Given the description of an element on the screen output the (x, y) to click on. 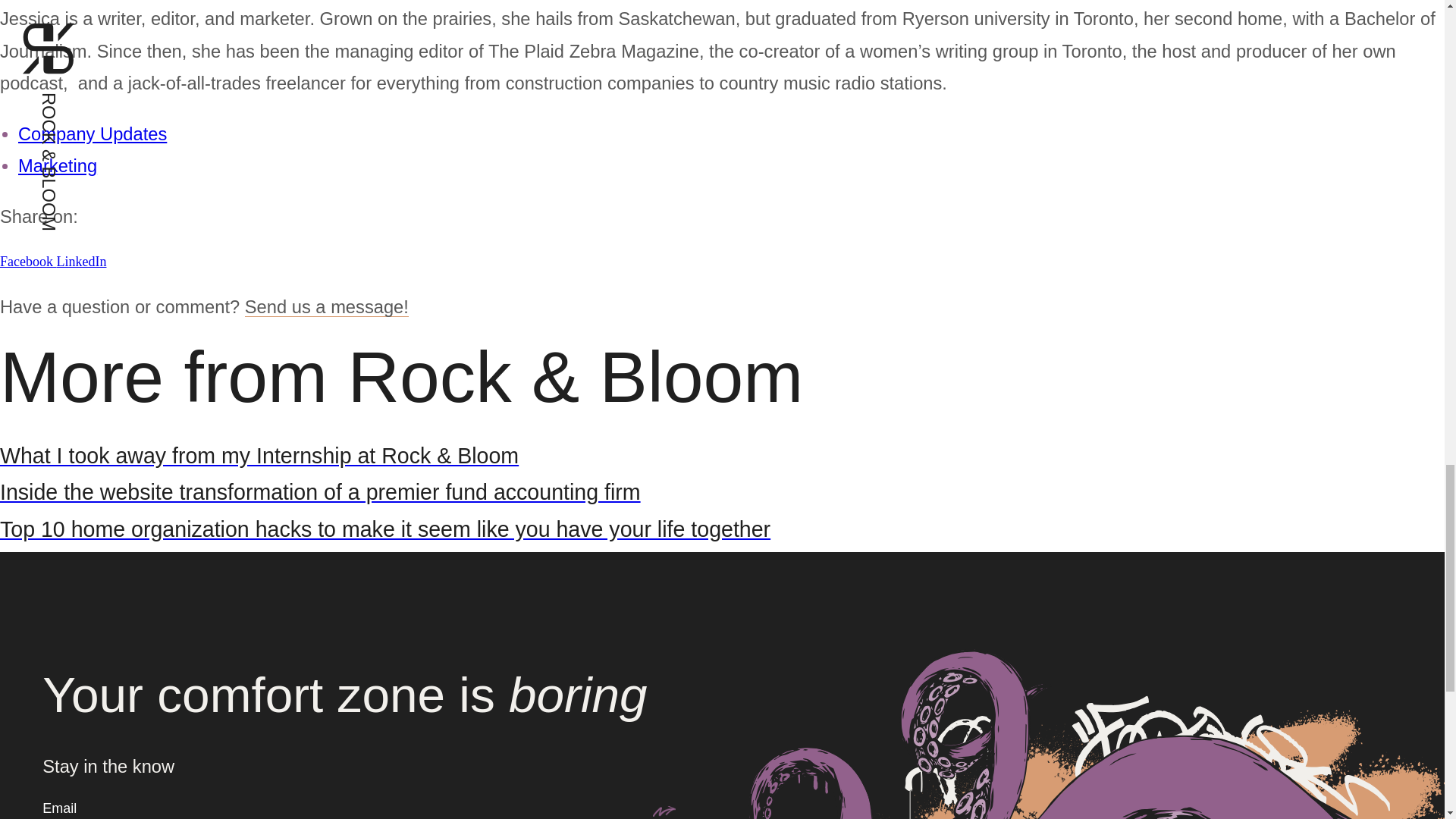
Send us a message! (326, 306)
Subscribe (667, 808)
Facebook (28, 261)
LinkedIn (81, 261)
Company Updates (92, 134)
Subscribe (667, 808)
Marketing (57, 166)
